Given the description of an element on the screen output the (x, y) to click on. 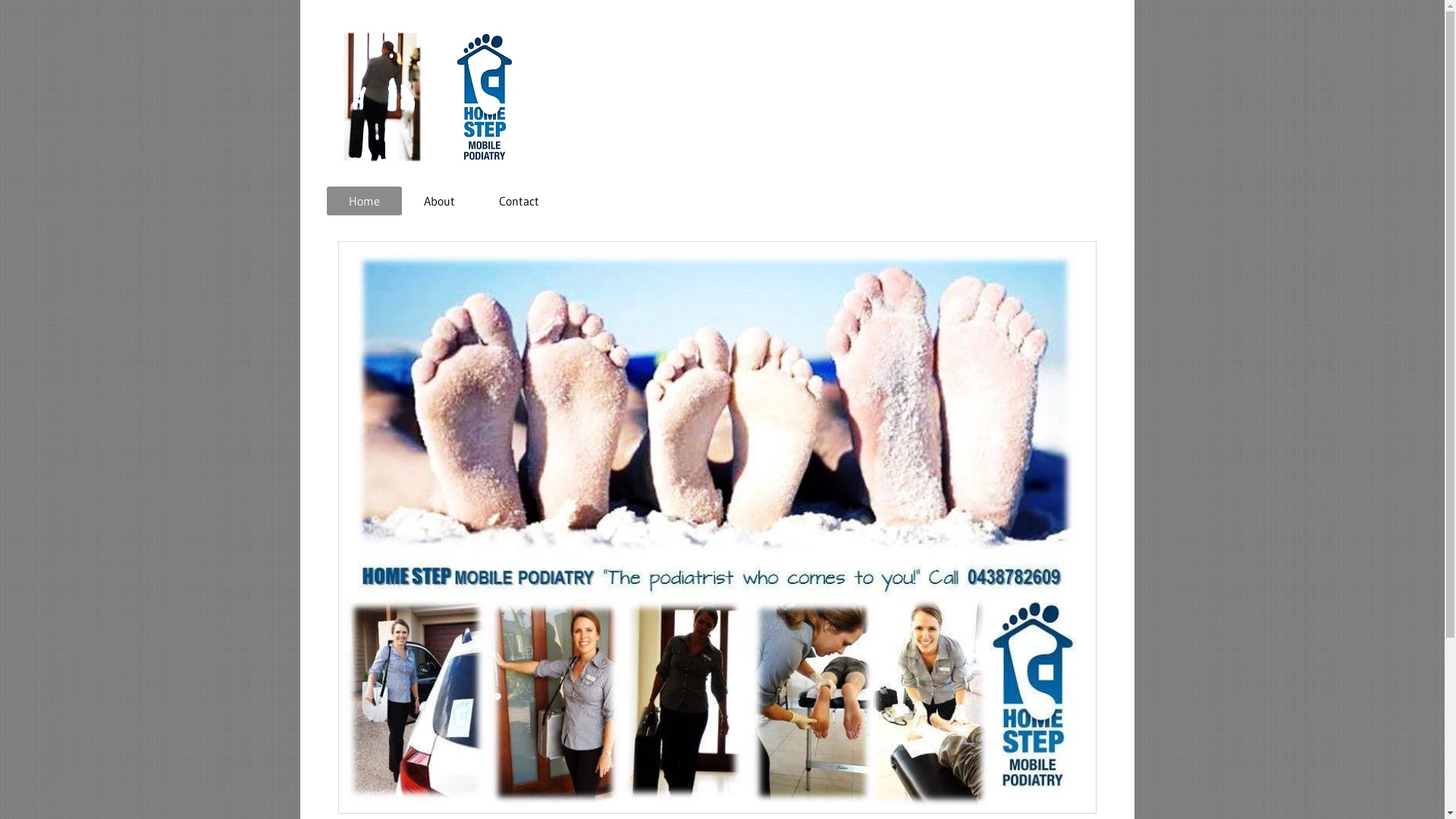
About Element type: text (438, 200)
Contact Element type: text (518, 200)
Home Element type: text (363, 200)
